Given the description of an element on the screen output the (x, y) to click on. 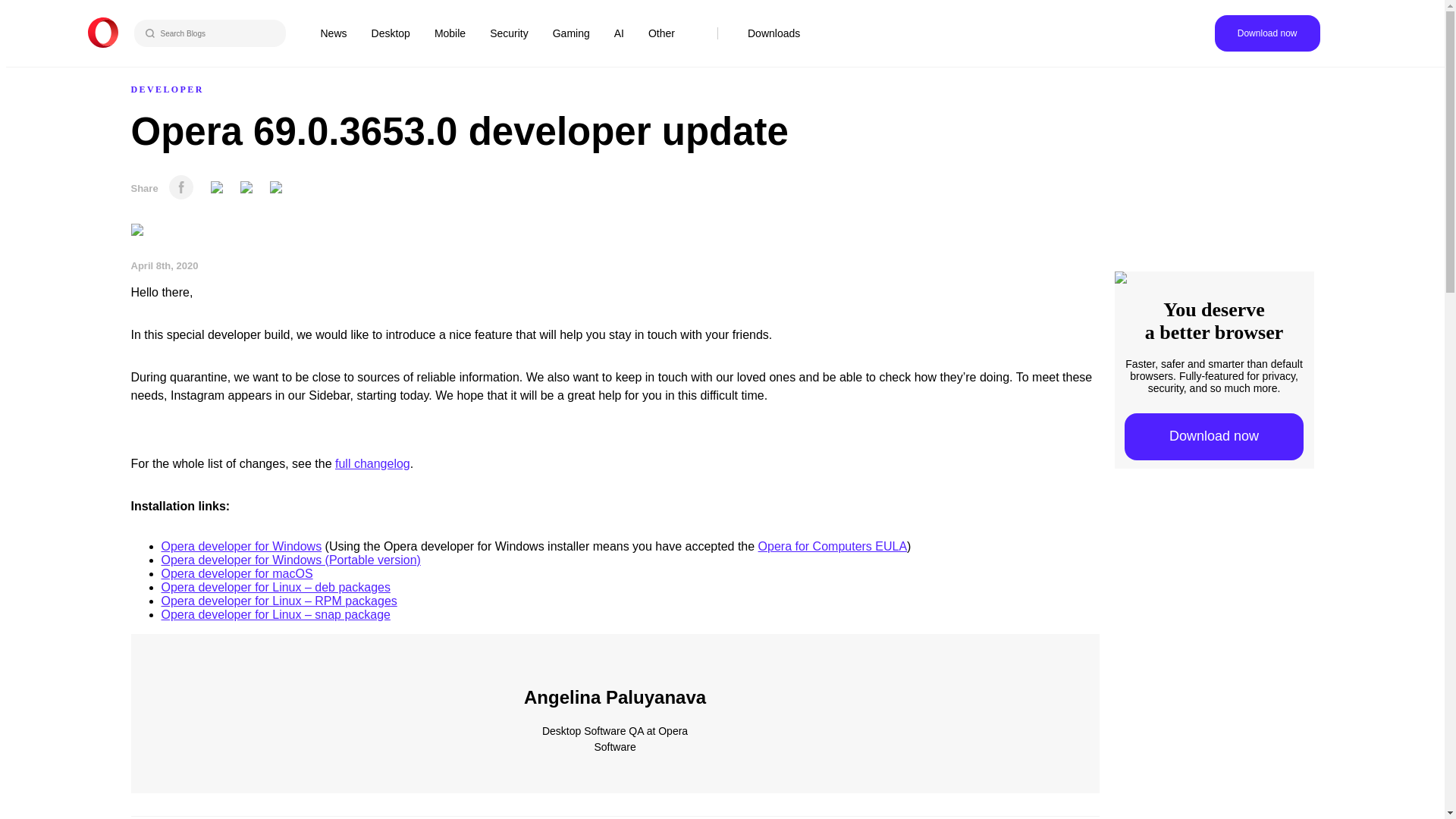
AI (619, 32)
Desktop (390, 32)
Downloads (773, 32)
News (333, 32)
Security (508, 32)
Other (661, 32)
DEVELOPER (167, 89)
full changelog (372, 463)
Download now (1267, 33)
Gaming (571, 32)
